Given the description of an element on the screen output the (x, y) to click on. 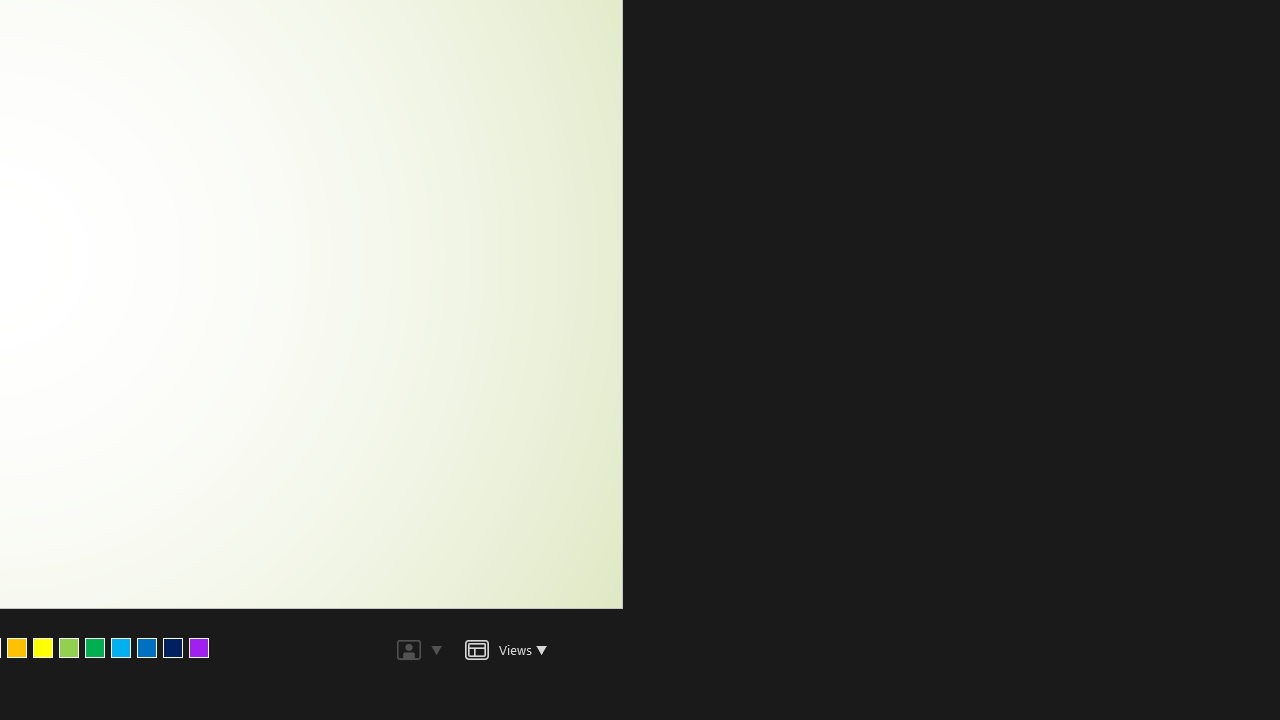
Pictures (347, 92)
Insert Table (383, 128)
Zoom 154% (1234, 668)
Insert an Icon (383, 92)
Insert Chart (419, 128)
Insert Cameo (310, 128)
Stock Images (310, 92)
